Given the description of an element on the screen output the (x, y) to click on. 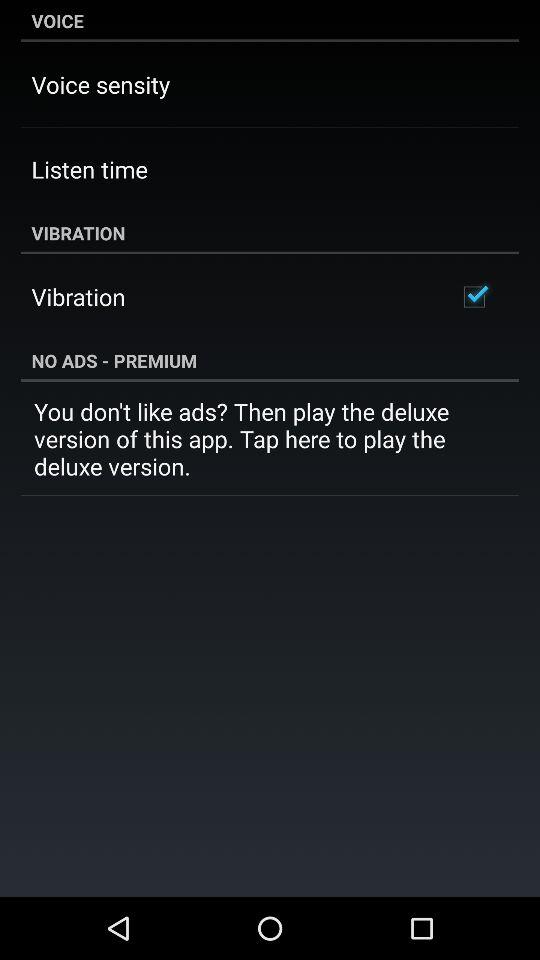
scroll until the listen time icon (89, 169)
